Given the description of an element on the screen output the (x, y) to click on. 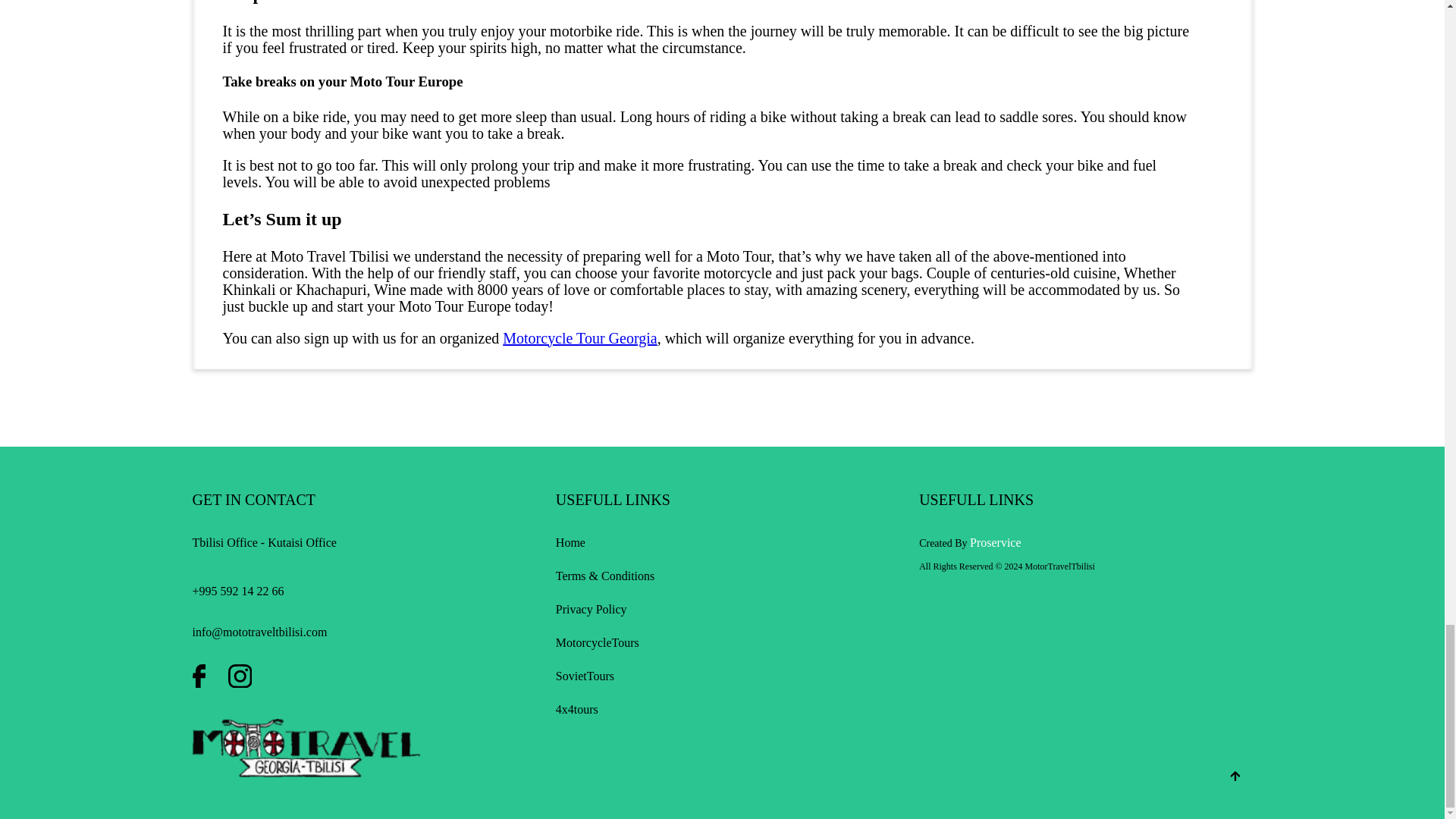
Motorcycle Tour Georgia (579, 338)
Home (570, 542)
Privacy Policy (591, 608)
MotorcycleTours (597, 642)
SovietTours (585, 675)
Proservice (995, 542)
4x4tours (577, 708)
